Given the description of an element on the screen output the (x, y) to click on. 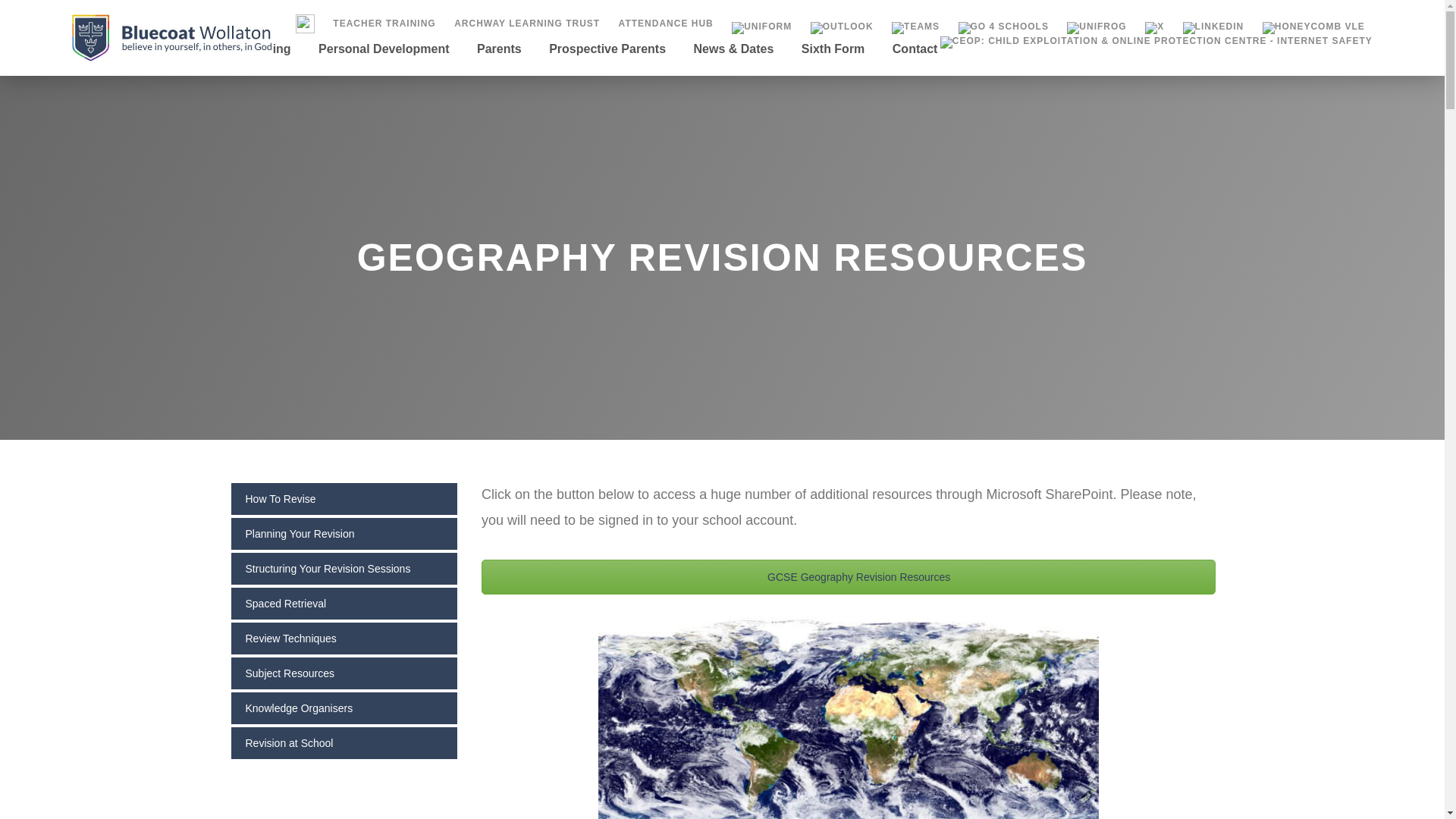
Knowledge Organisers (343, 708)
Year 11 Geography Resources (848, 576)
Subject Resources (343, 673)
How To Revise (343, 498)
Our Academy (172, 66)
Spaced Retrieval (343, 603)
ATTENDANCE HUB (665, 22)
Land Ocean Ice Cloud 1024 (848, 714)
ARCHWAY LEARNING TRUST (526, 22)
TEACHER TRAINING (383, 22)
Planning Your Revision (343, 533)
Structuring Your Revision Sessions (343, 568)
Revision at School (343, 742)
Home (94, 66)
Review Techniques (343, 638)
